Given the description of an element on the screen output the (x, y) to click on. 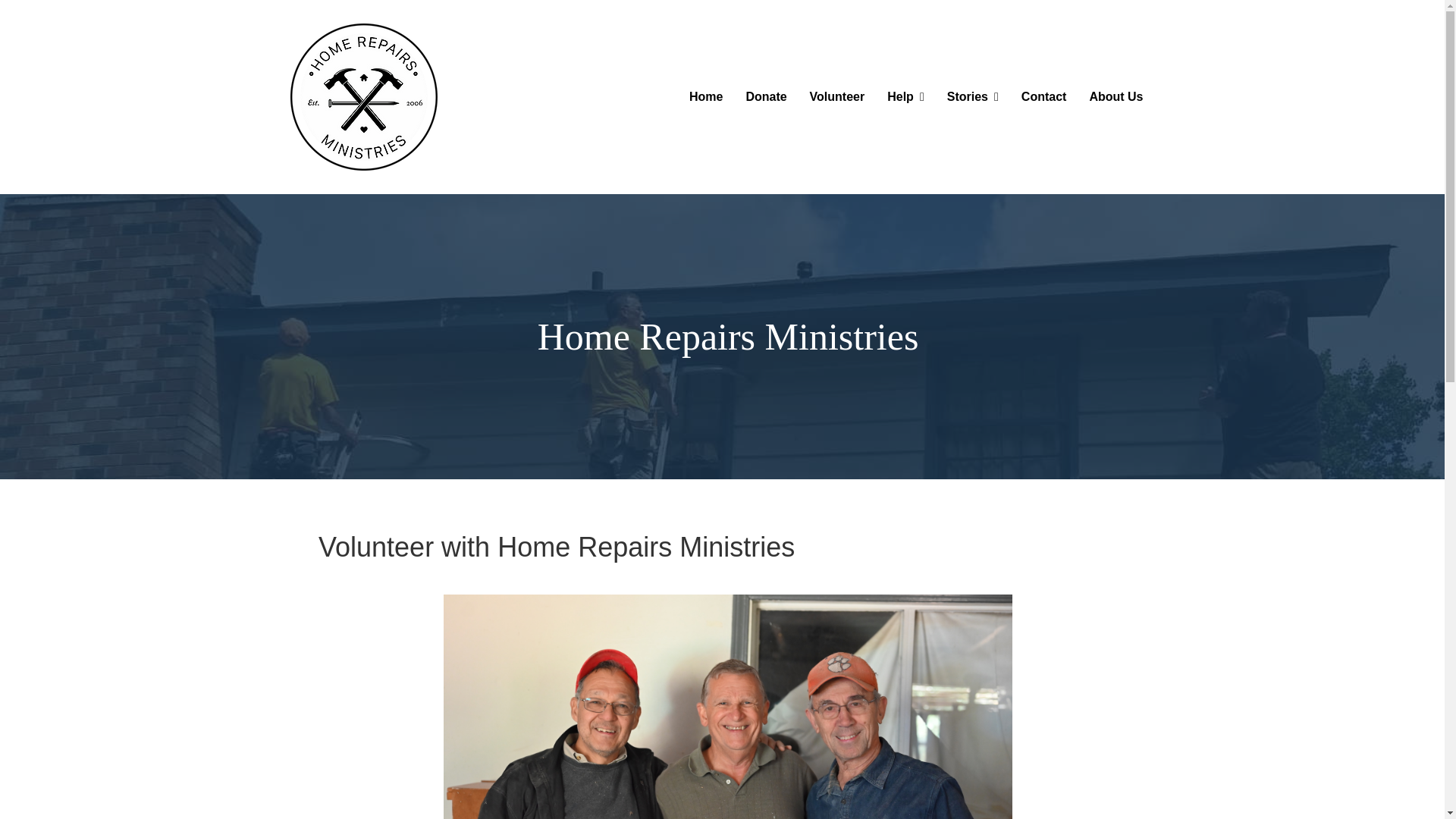
Home (705, 96)
Help (906, 96)
About Us (1115, 96)
Donate (765, 96)
Contact (1044, 96)
Stories (973, 96)
Volunteer (836, 96)
